Given the description of an element on the screen output the (x, y) to click on. 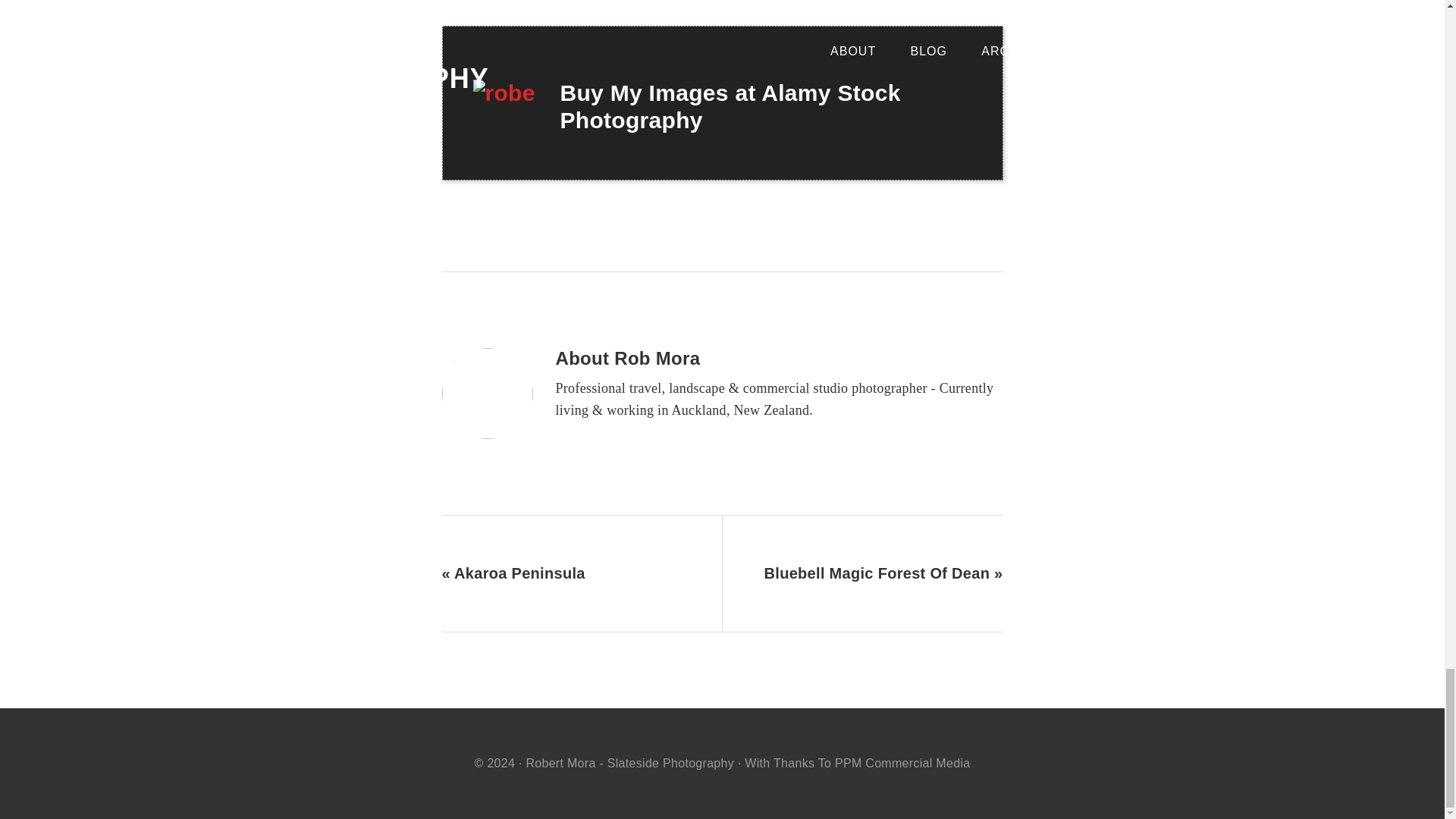
PPM Commercial Media (902, 762)
Buy My Images at Alamy Stock Photography (729, 106)
Robert Mora - Slateside Photography (629, 762)
